Given the description of an element on the screen output the (x, y) to click on. 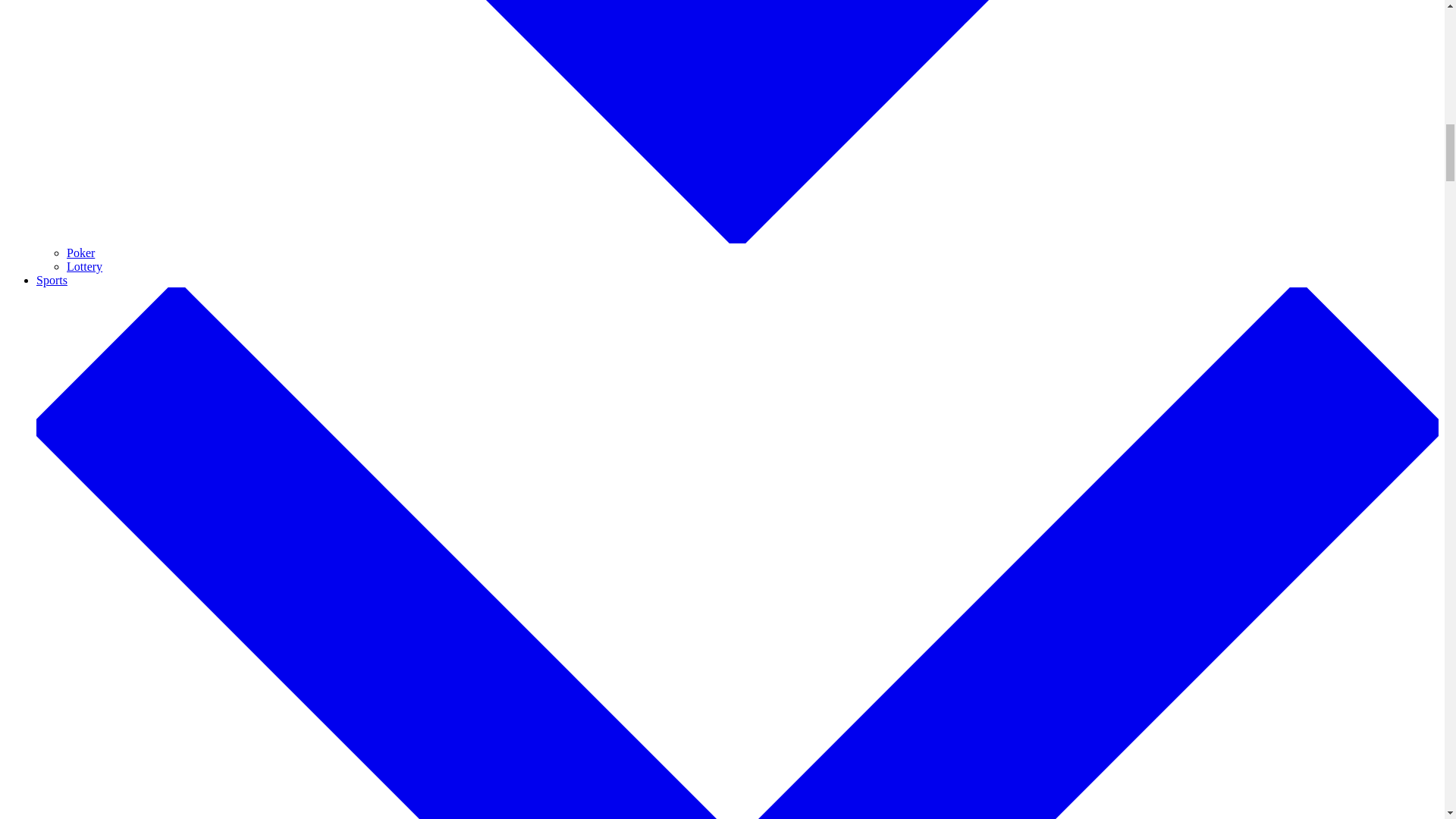
Lottery (83, 266)
Poker (80, 252)
